Given the description of an element on the screen output the (x, y) to click on. 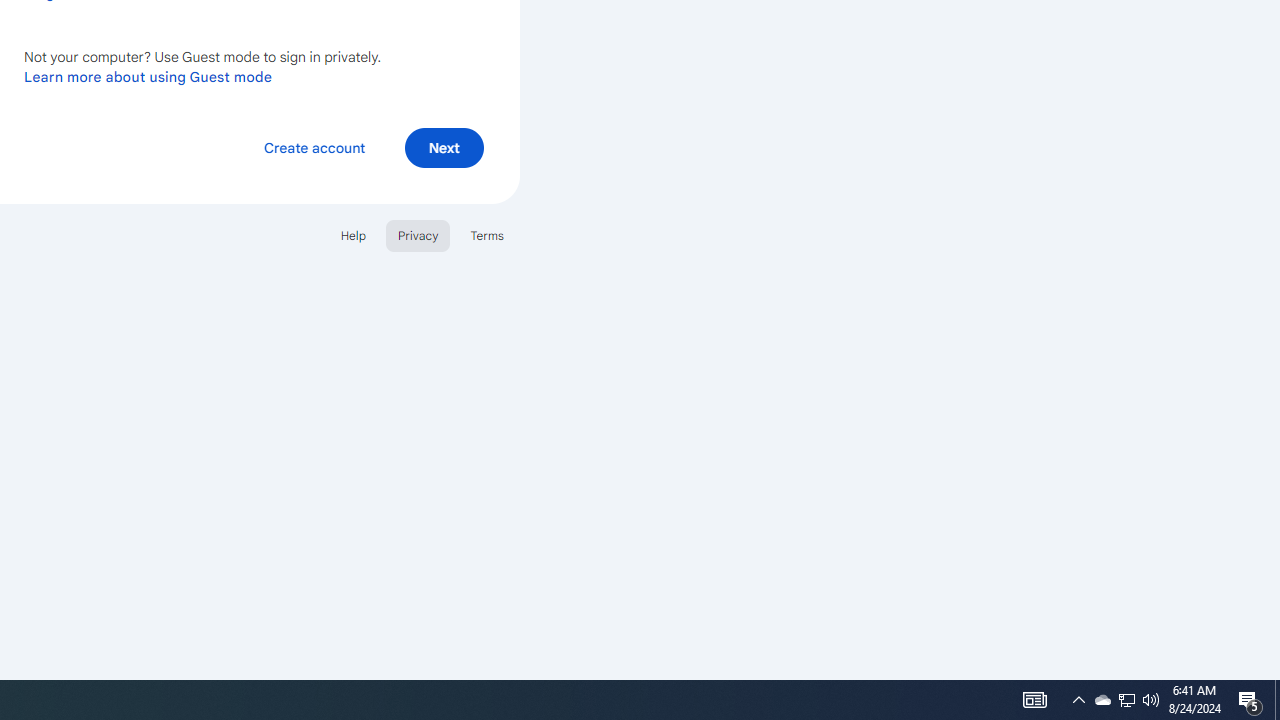
Create account (314, 146)
Next (443, 146)
Learn more about using Guest mode (148, 76)
